Given the description of an element on the screen output the (x, y) to click on. 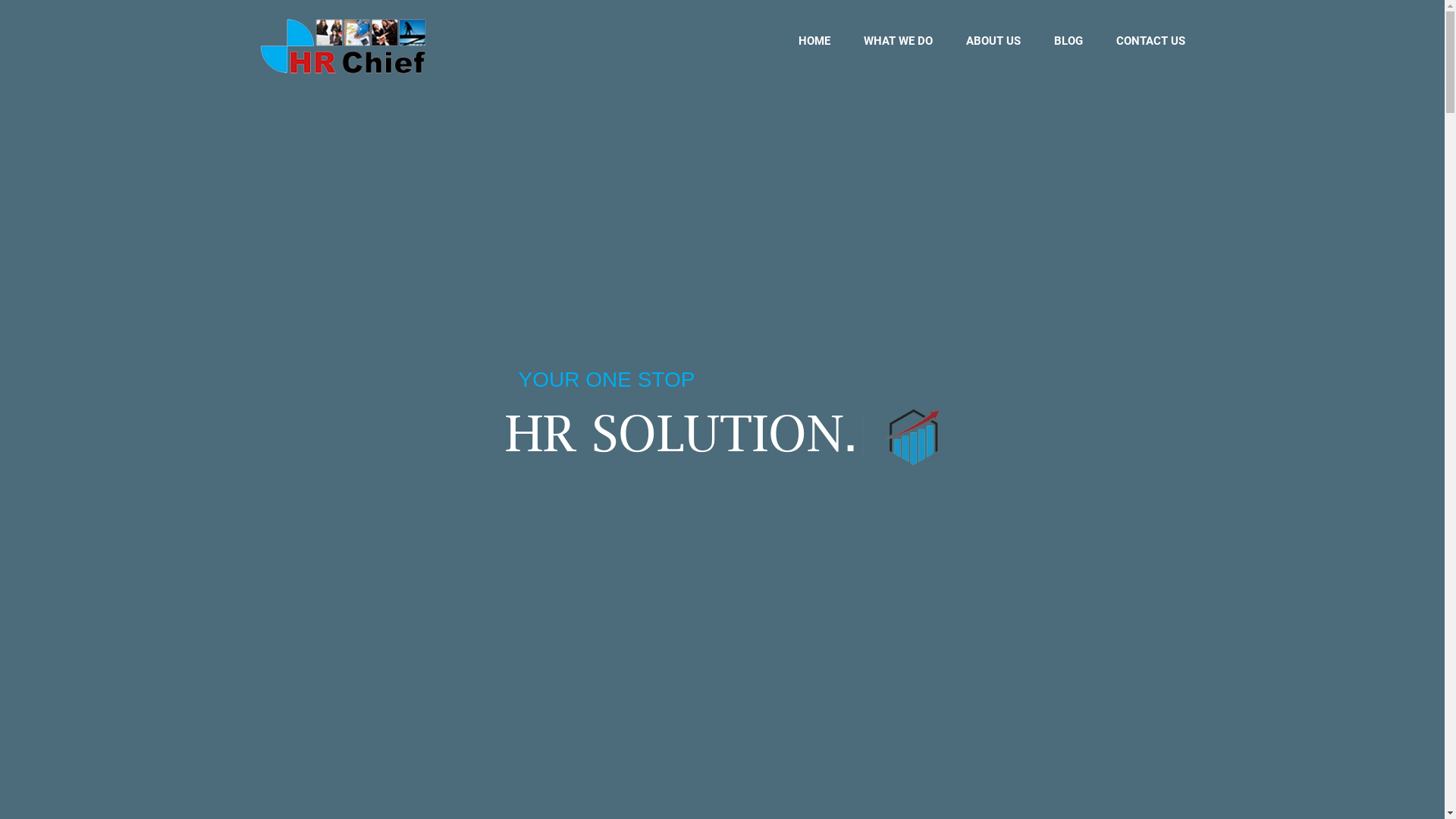
WHAT WE DO Element type: text (896, 41)
ABOUT US Element type: text (993, 41)
HOME Element type: text (813, 41)
CONTACT US Element type: text (1150, 41)
BLOG Element type: text (1068, 41)
